Given the description of an element on the screen output the (x, y) to click on. 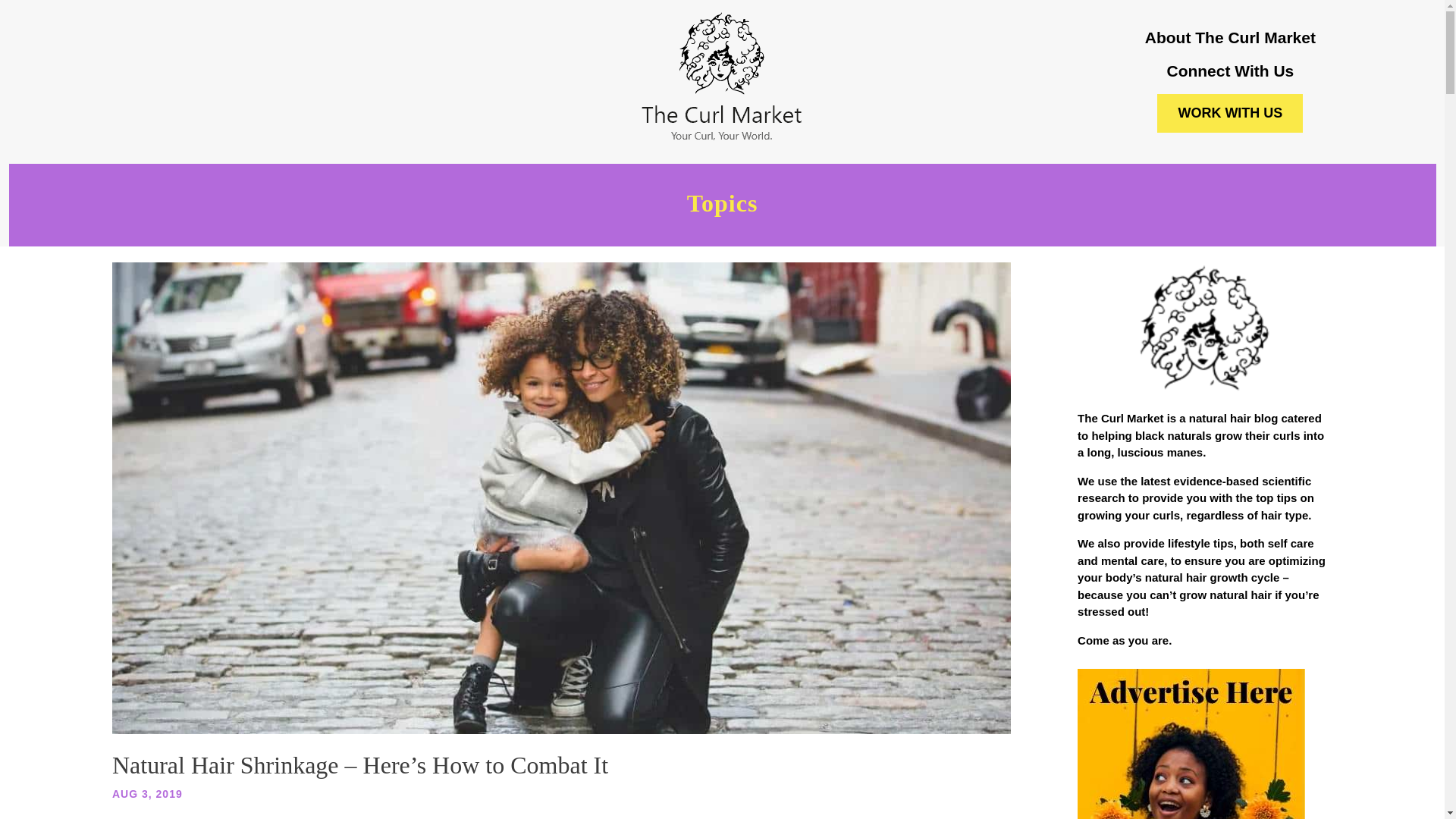
Connect With Us (1230, 70)
About The Curl Market (1230, 36)
TTCM Logo (722, 77)
Advertise With The Curl Market (1190, 744)
Topics (722, 208)
To The Curl Market Icon (1204, 329)
WORK WITH US (1230, 113)
